Given the description of an element on the screen output the (x, y) to click on. 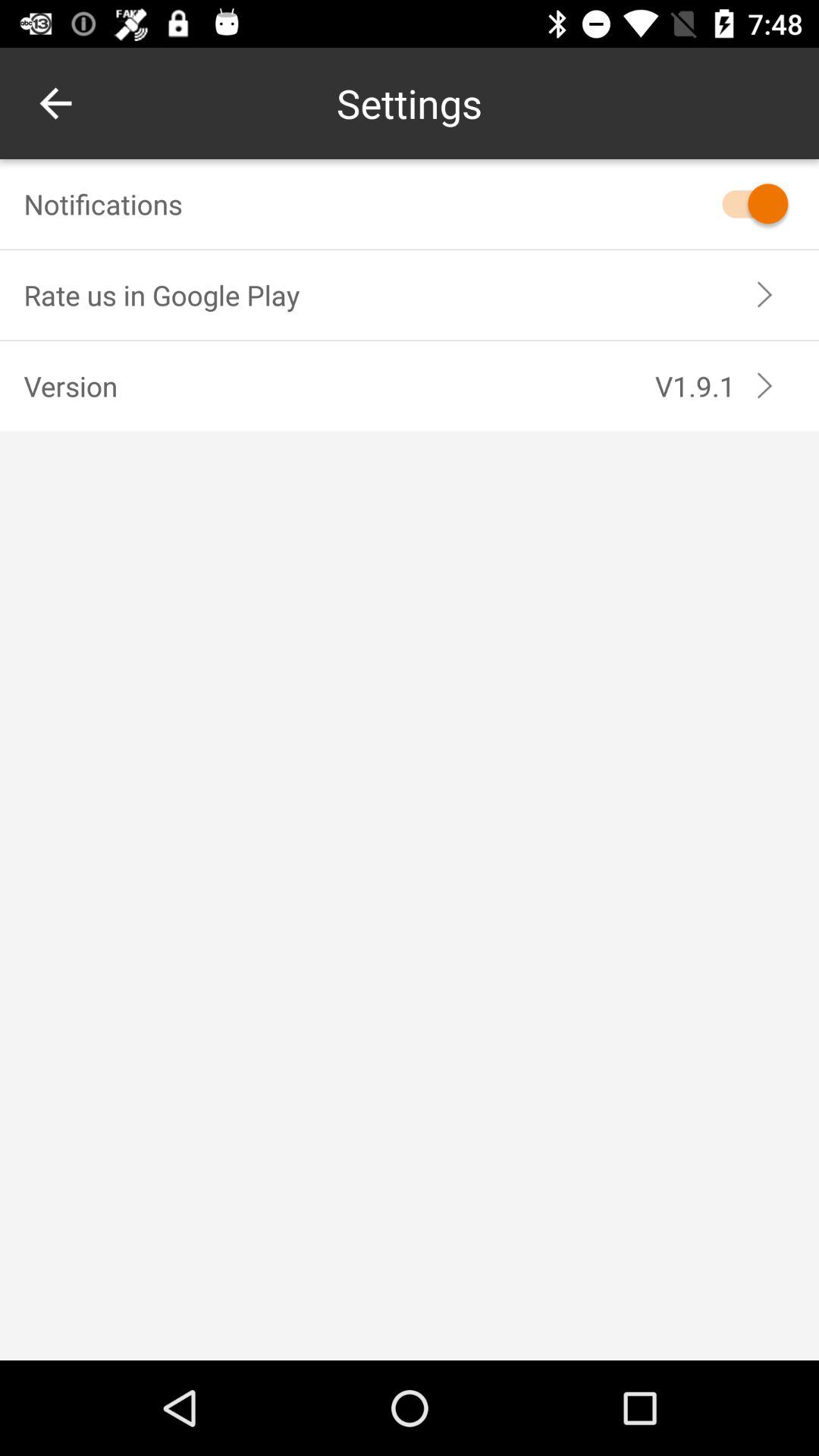
turn off item to the right of the notifications icon (747, 203)
